Given the description of an element on the screen output the (x, y) to click on. 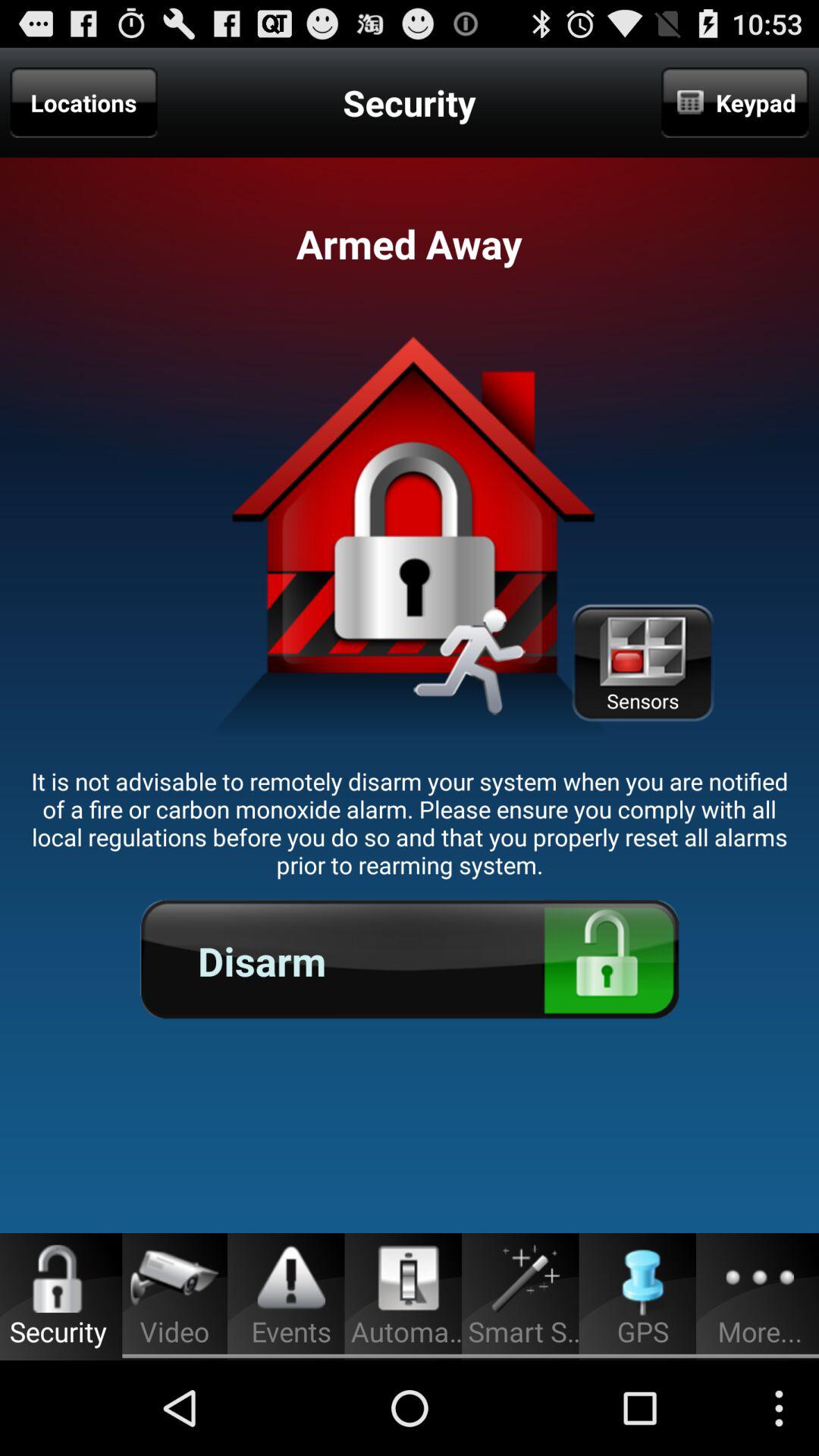
turn on icon below the keypad item (642, 662)
